Given the description of an element on the screen output the (x, y) to click on. 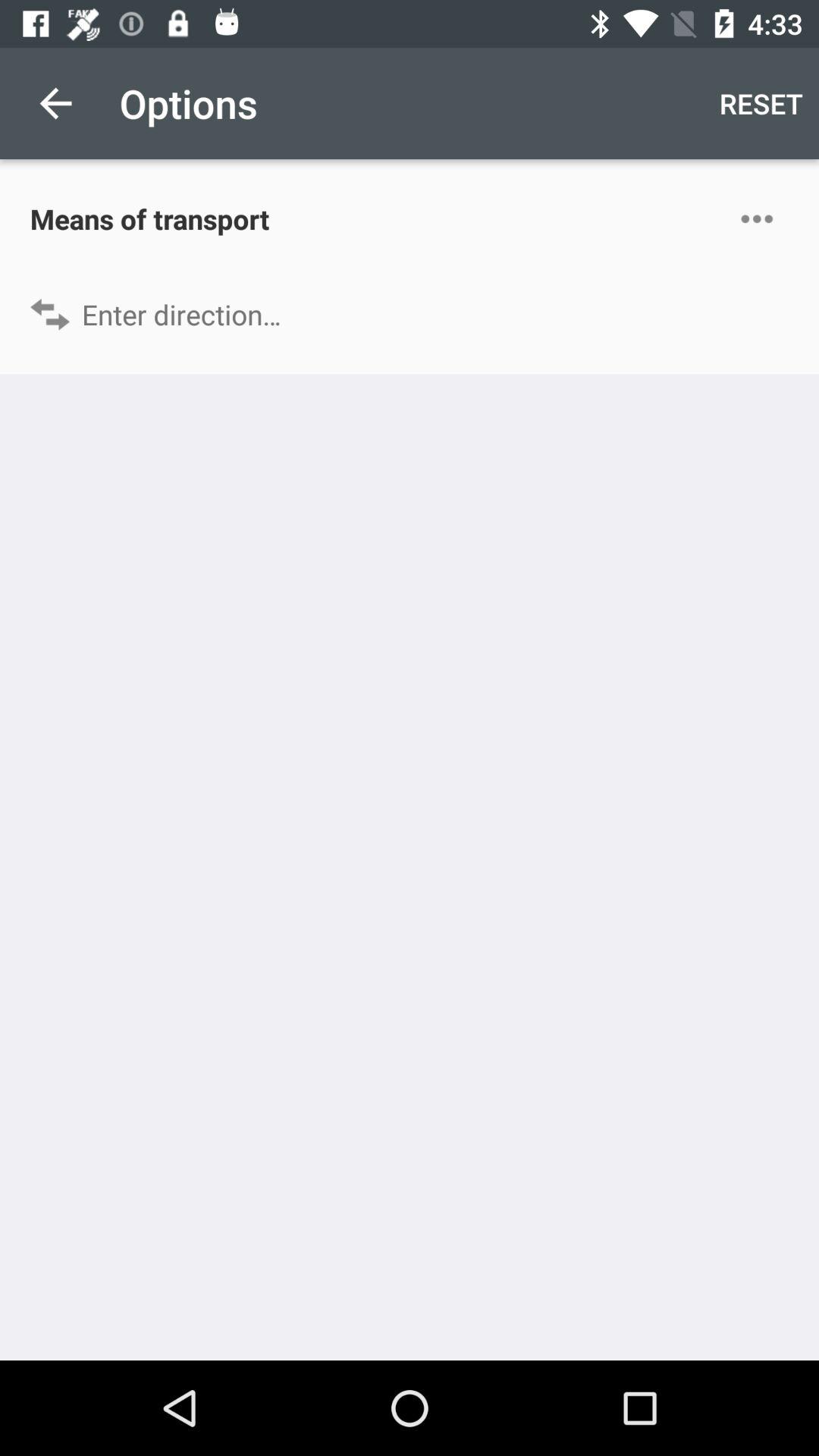
open item below the means of transport (409, 314)
